Given the description of an element on the screen output the (x, y) to click on. 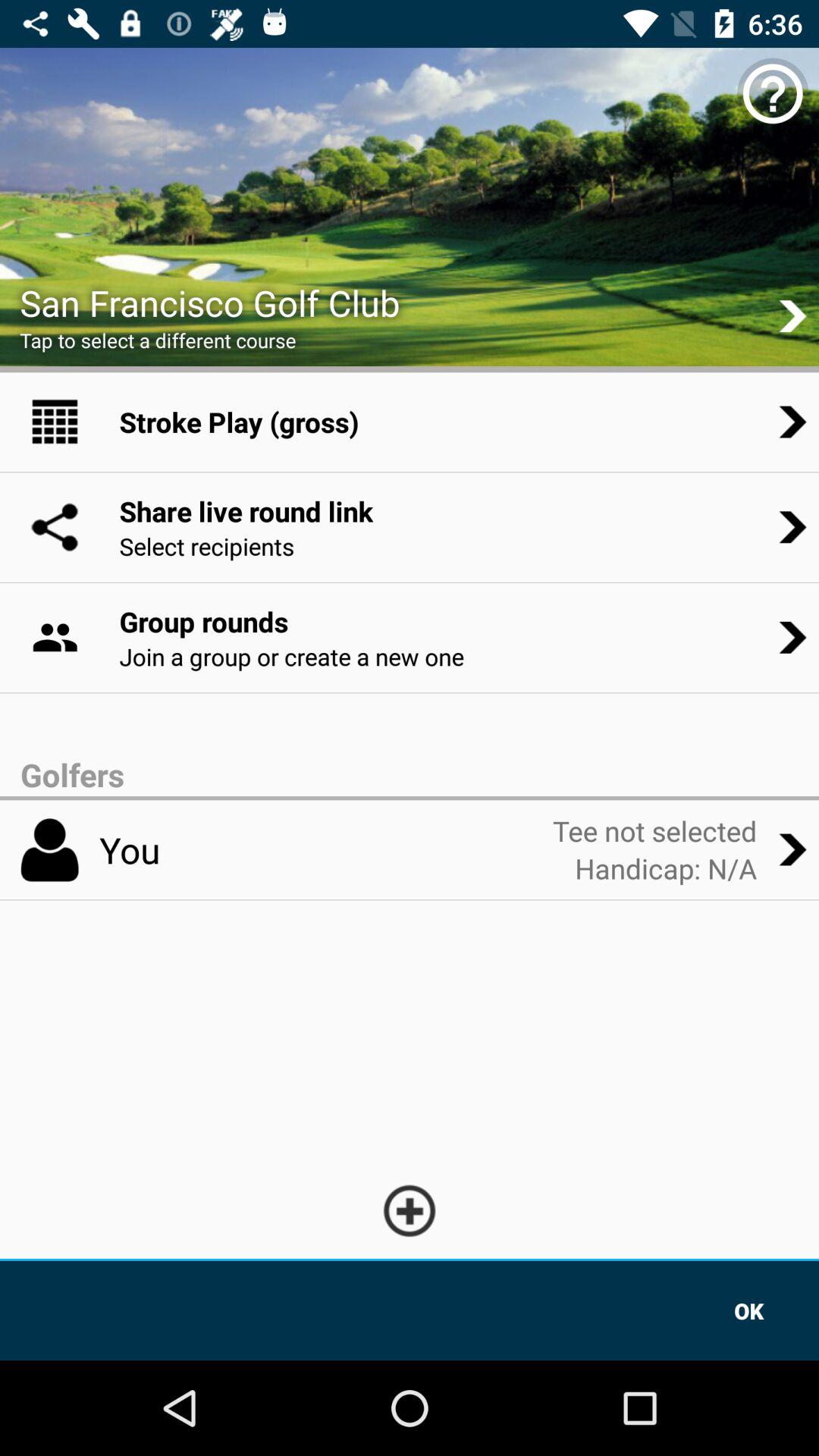
jump until ok item (749, 1310)
